Given the description of an element on the screen output the (x, y) to click on. 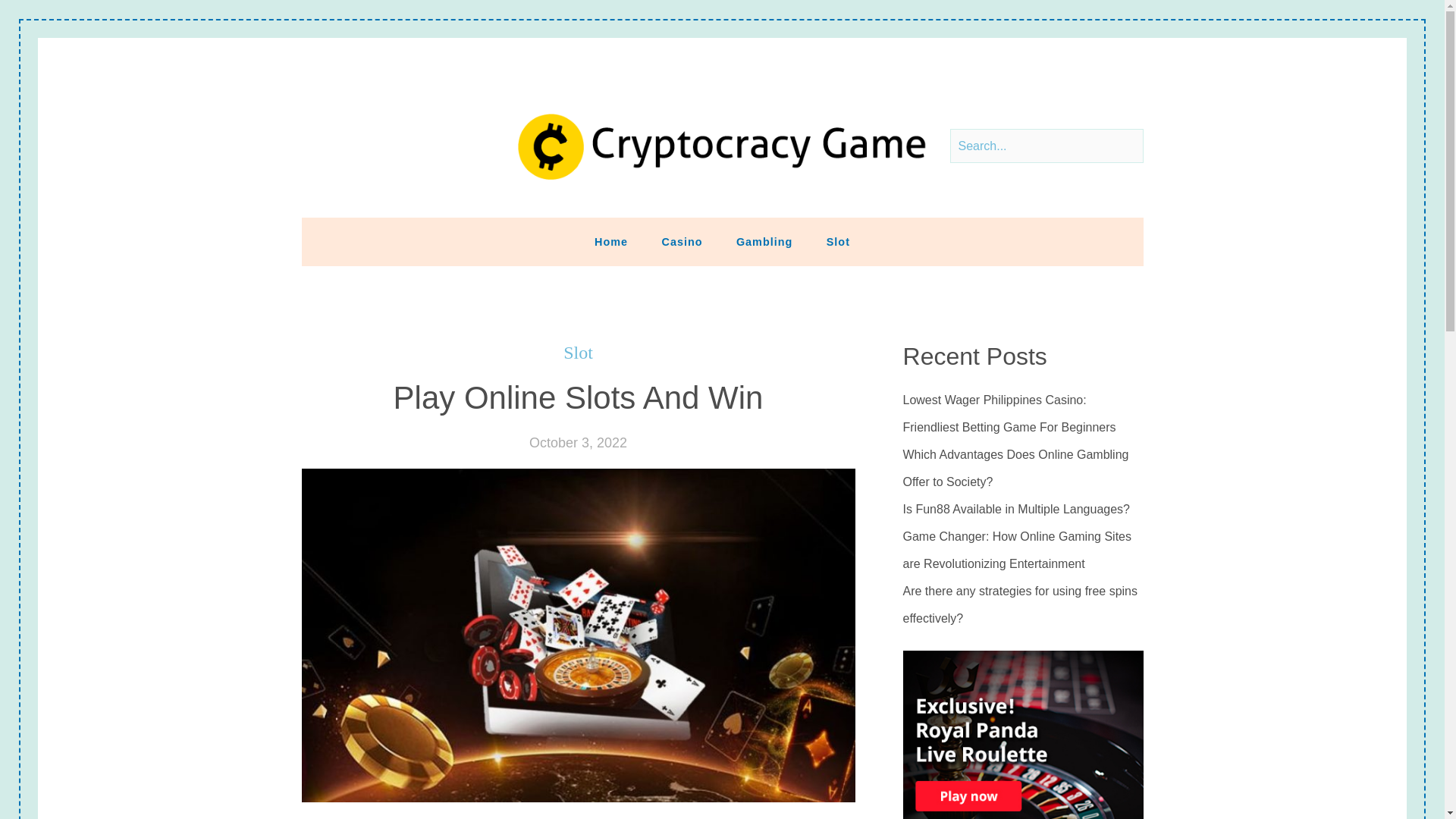
October 3, 2022 (578, 443)
Which Advantages Does Online Gambling Offer to Society? (1022, 468)
Home (611, 241)
Gambling (764, 241)
Slot (837, 241)
Is Fun88 Available in Multiple Languages? (1015, 509)
Slot (577, 352)
Are there any strategies for using free spins effectively? (1022, 605)
Casino (681, 241)
